Given the description of an element on the screen output the (x, y) to click on. 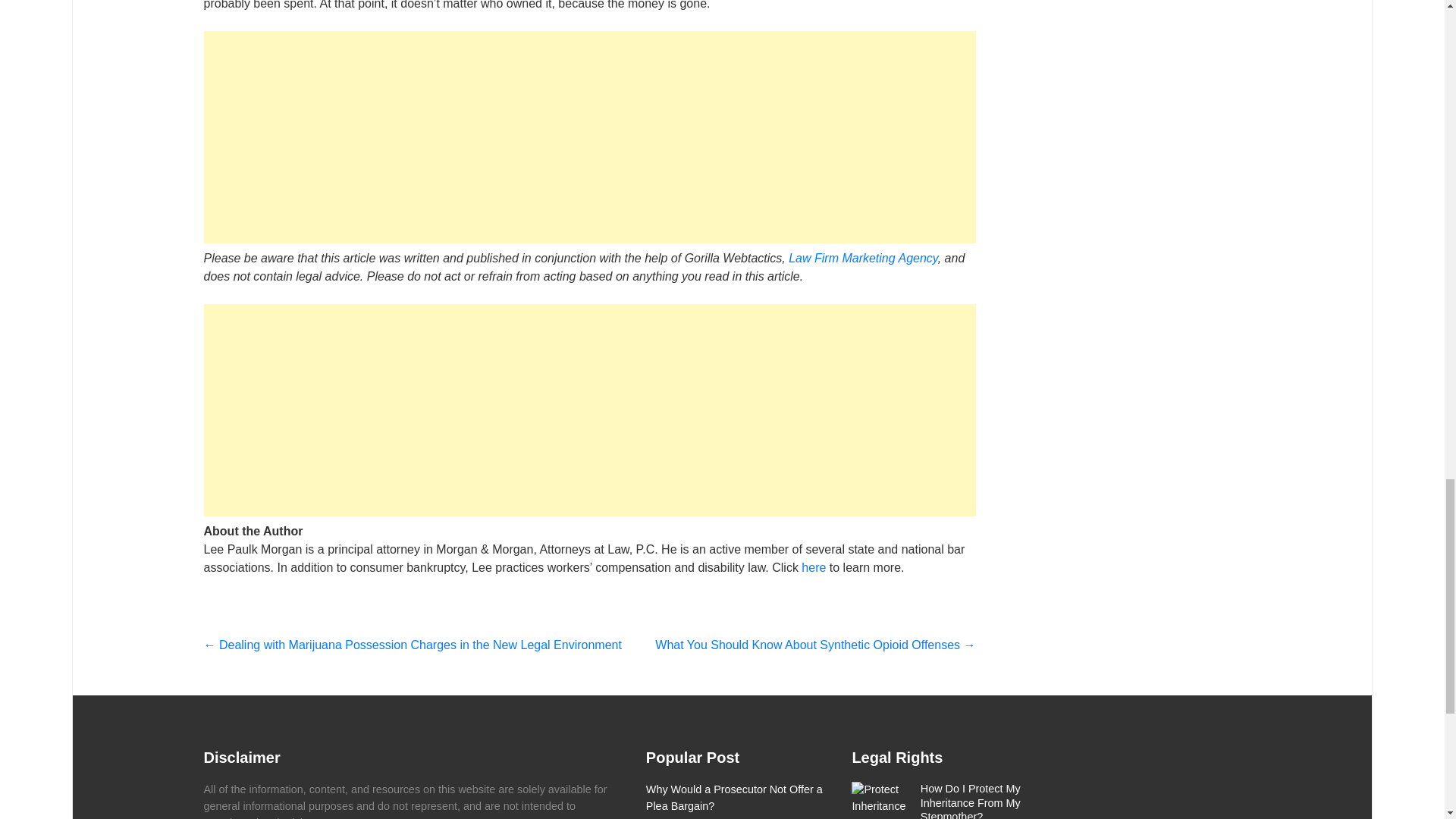
here (813, 567)
Law Firm Marketing Agency (863, 257)
